Given the description of an element on the screen output the (x, y) to click on. 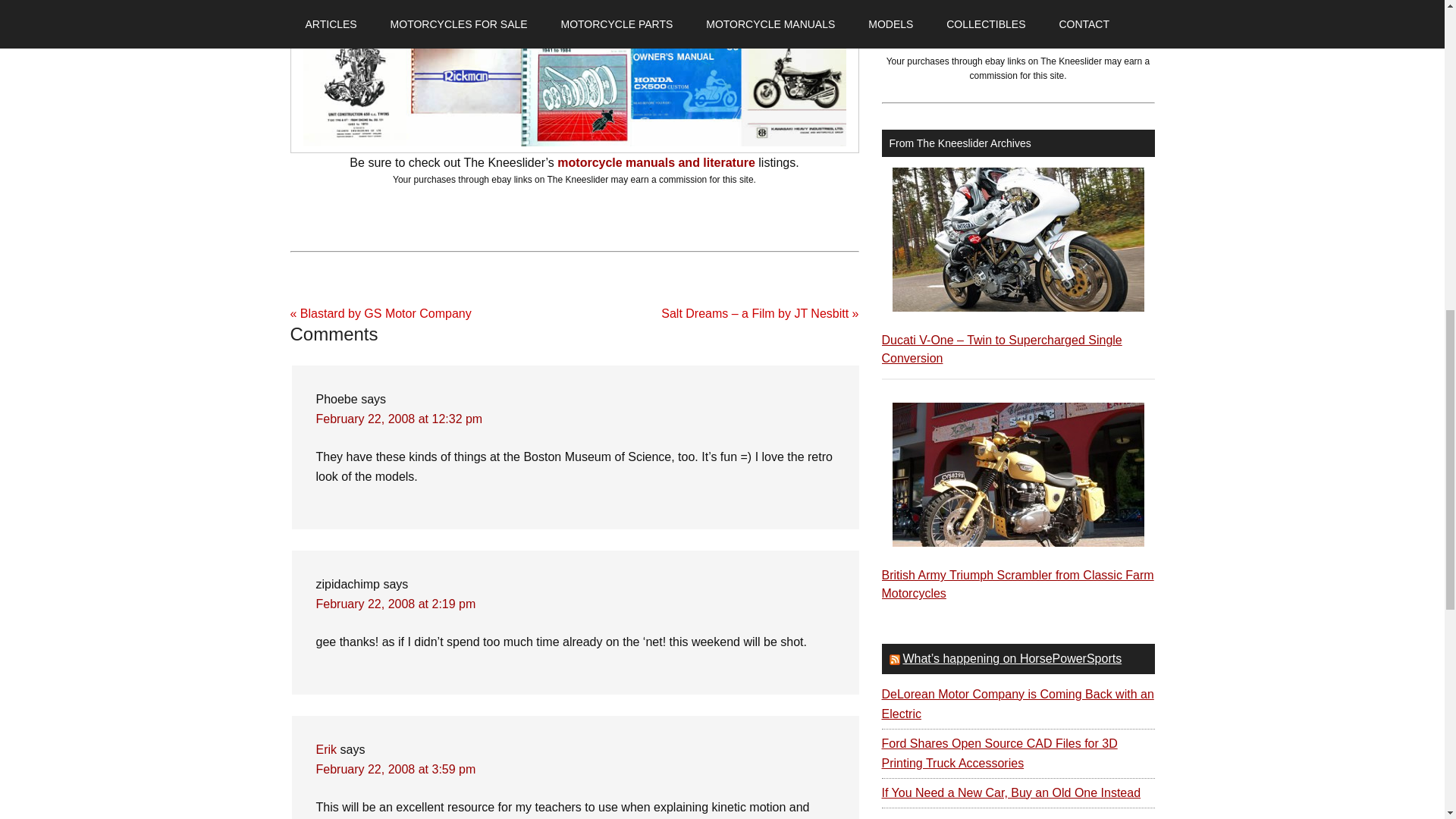
February 22, 2008 at 12:32 pm (398, 418)
motorcycle manuals and literature (995, 2)
British Army Triumph Scrambler from Classic Farm Motorcycles (1016, 583)
Erik (325, 748)
motorcycle manuals and literature (656, 162)
February 22, 2008 at 2:19 pm (395, 603)
If You Need a New Car, Buy an Old One Instead (1010, 792)
DeLorean Motor Company is Coming Back with an Electric (1016, 703)
February 22, 2008 at 3:59 pm (395, 768)
